Given the description of an element on the screen output the (x, y) to click on. 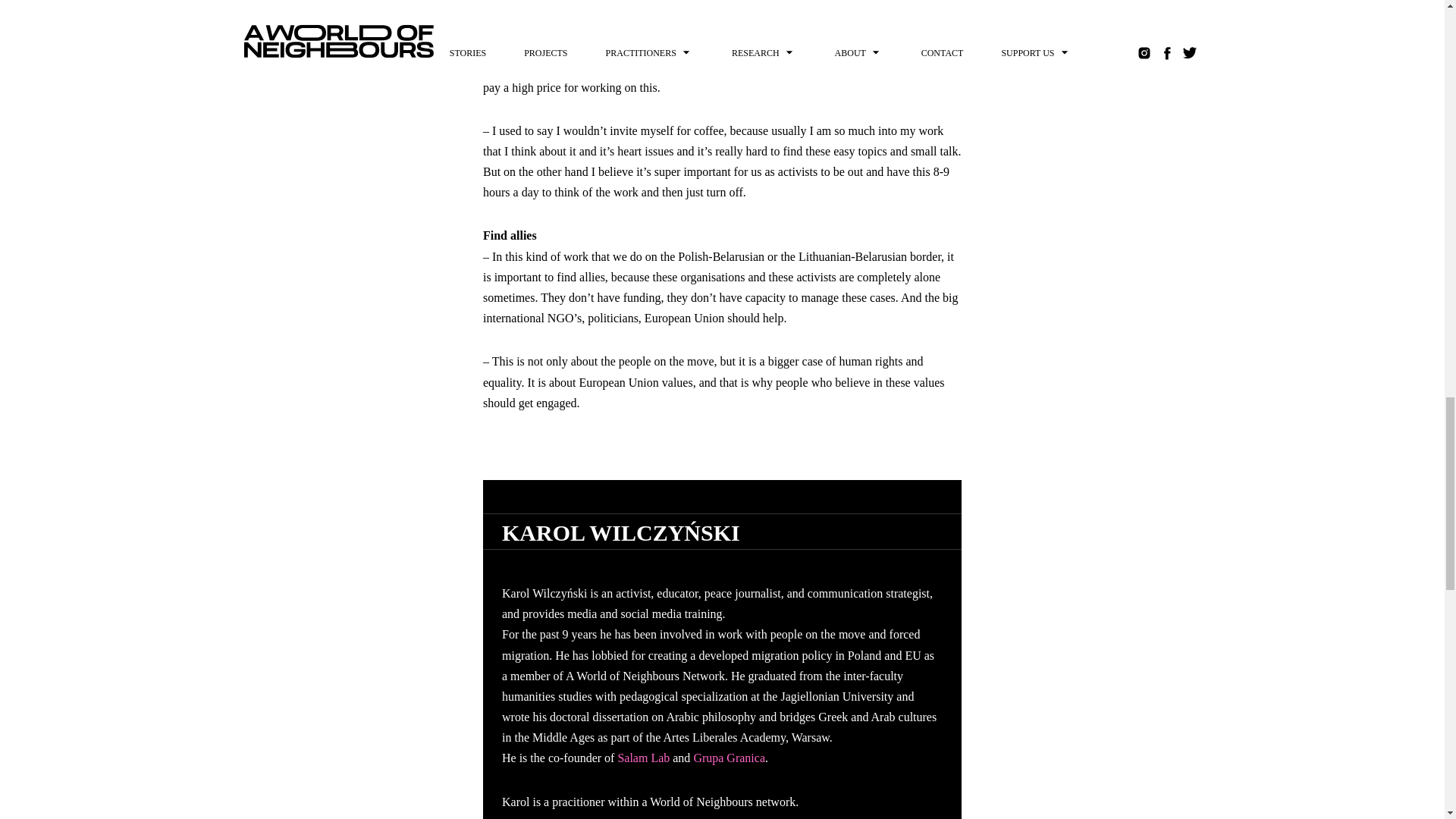
Grupa Granica (729, 757)
Salam Lab (643, 757)
